Given the description of an element on the screen output the (x, y) to click on. 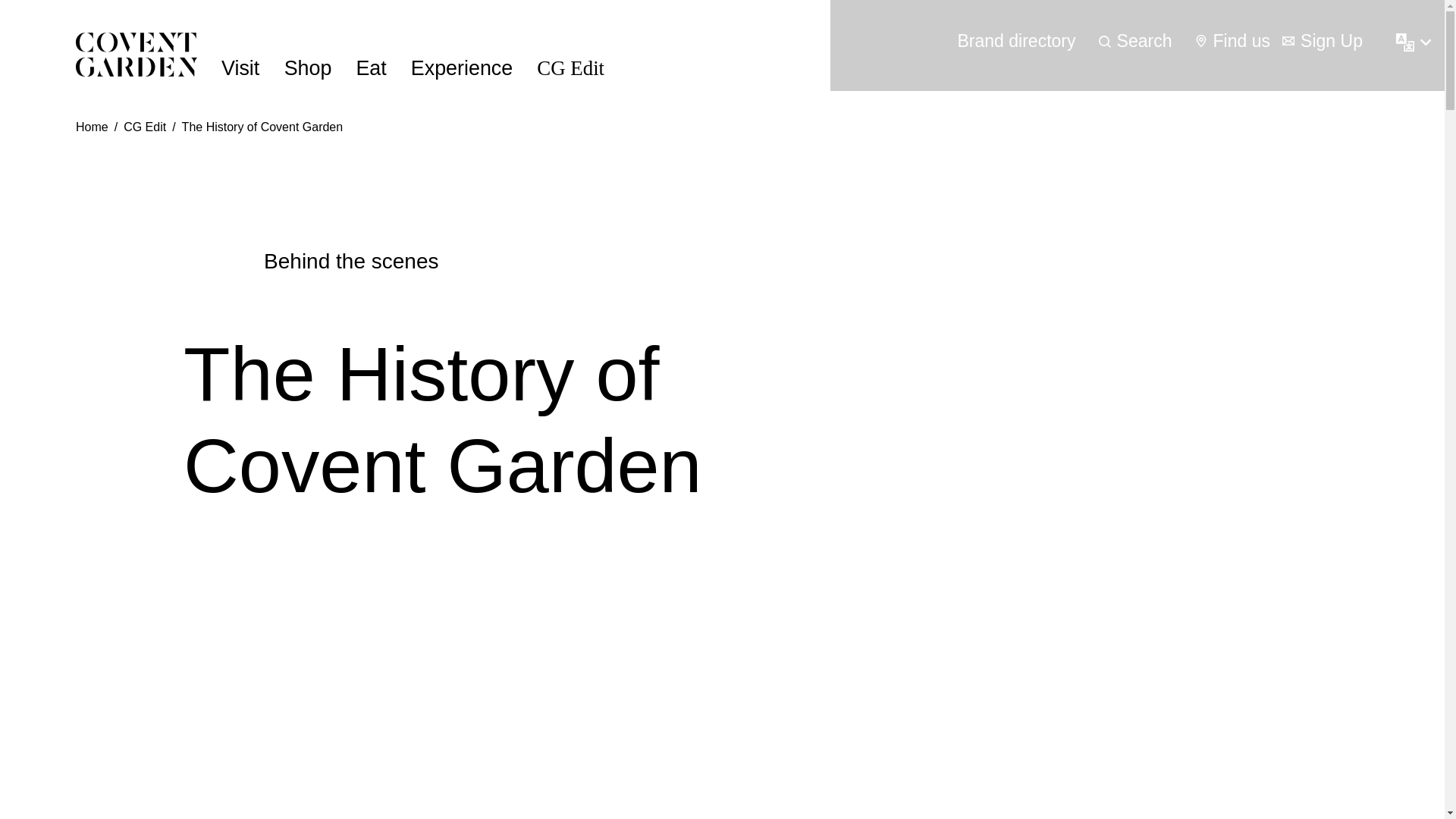
Sign Up (1322, 40)
CG Edit (570, 68)
Visit (240, 68)
Shop (307, 68)
Find us (1233, 40)
Experience (461, 68)
Search (1135, 41)
Eat (370, 68)
Brand directory (1015, 40)
